Given the description of an element on the screen output the (x, y) to click on. 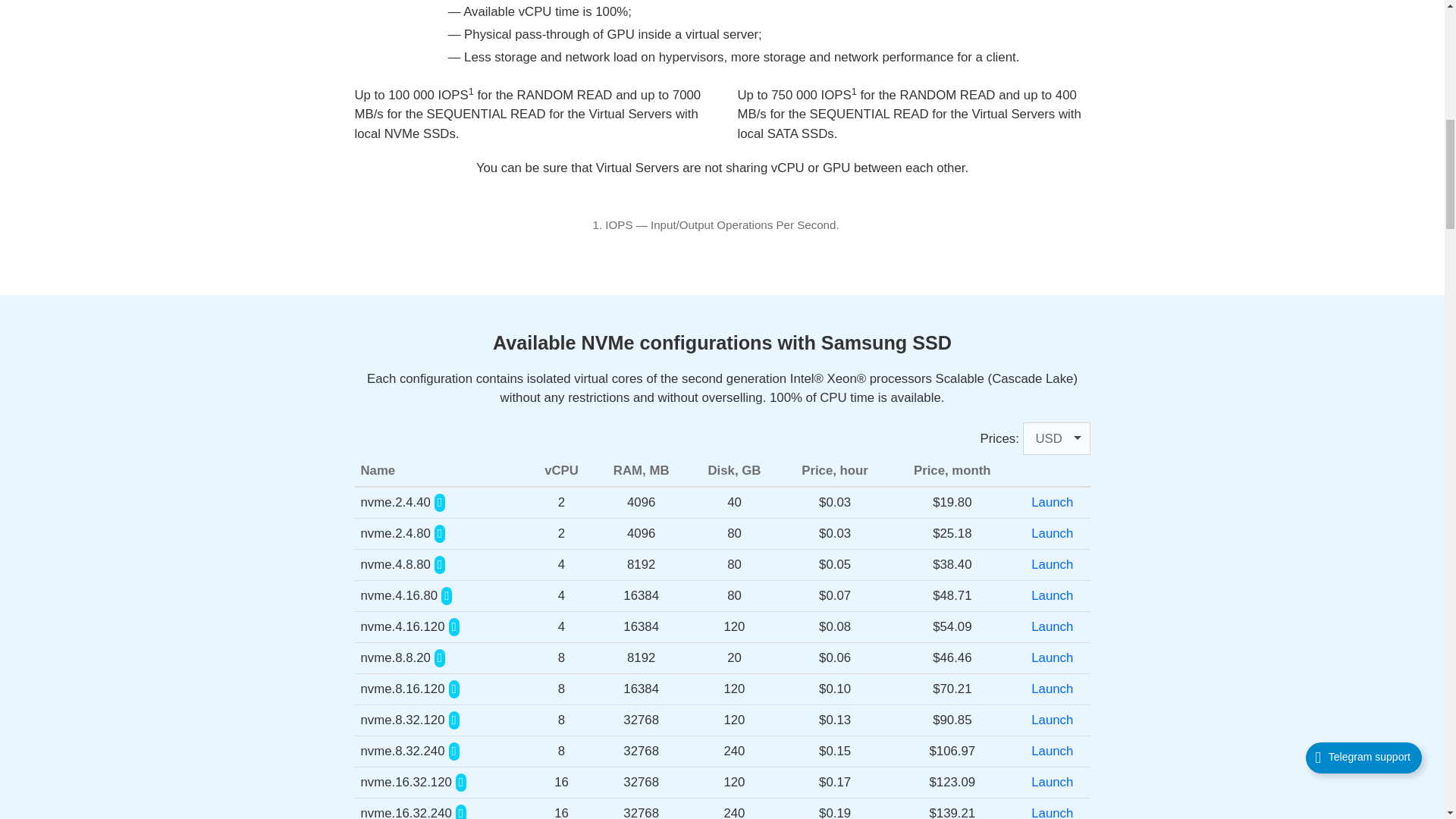
Launch (1051, 689)
Launch (1051, 564)
Launch (1051, 626)
Launch (1051, 657)
Launch (1051, 720)
Launch (1051, 502)
